Given the description of an element on the screen output the (x, y) to click on. 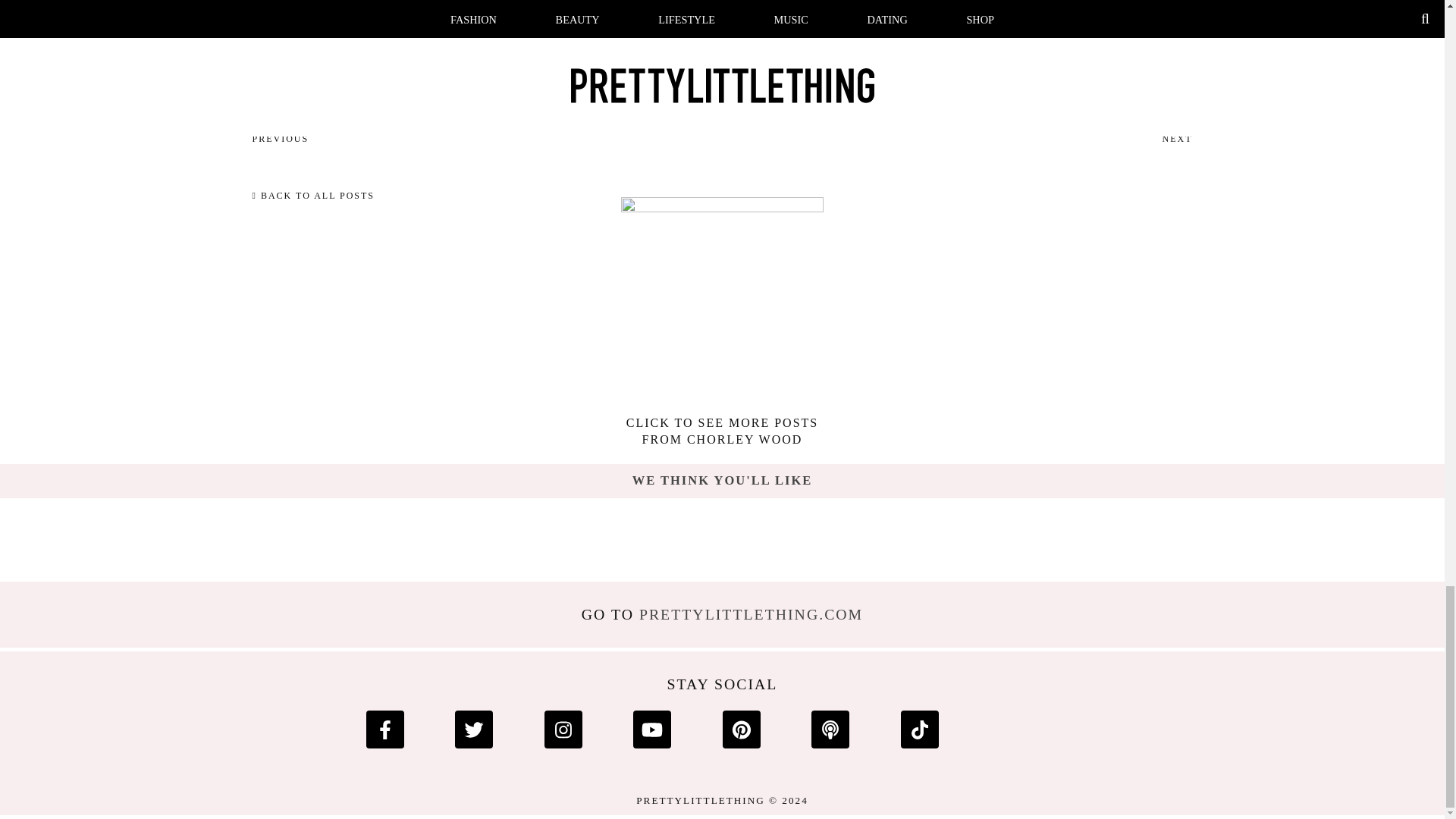
PRETTYLITTLETHING.COM (721, 431)
BACK TO ALL POSTS (751, 614)
NEXT (312, 195)
PREVIOUS (1173, 151)
